Given the description of an element on the screen output the (x, y) to click on. 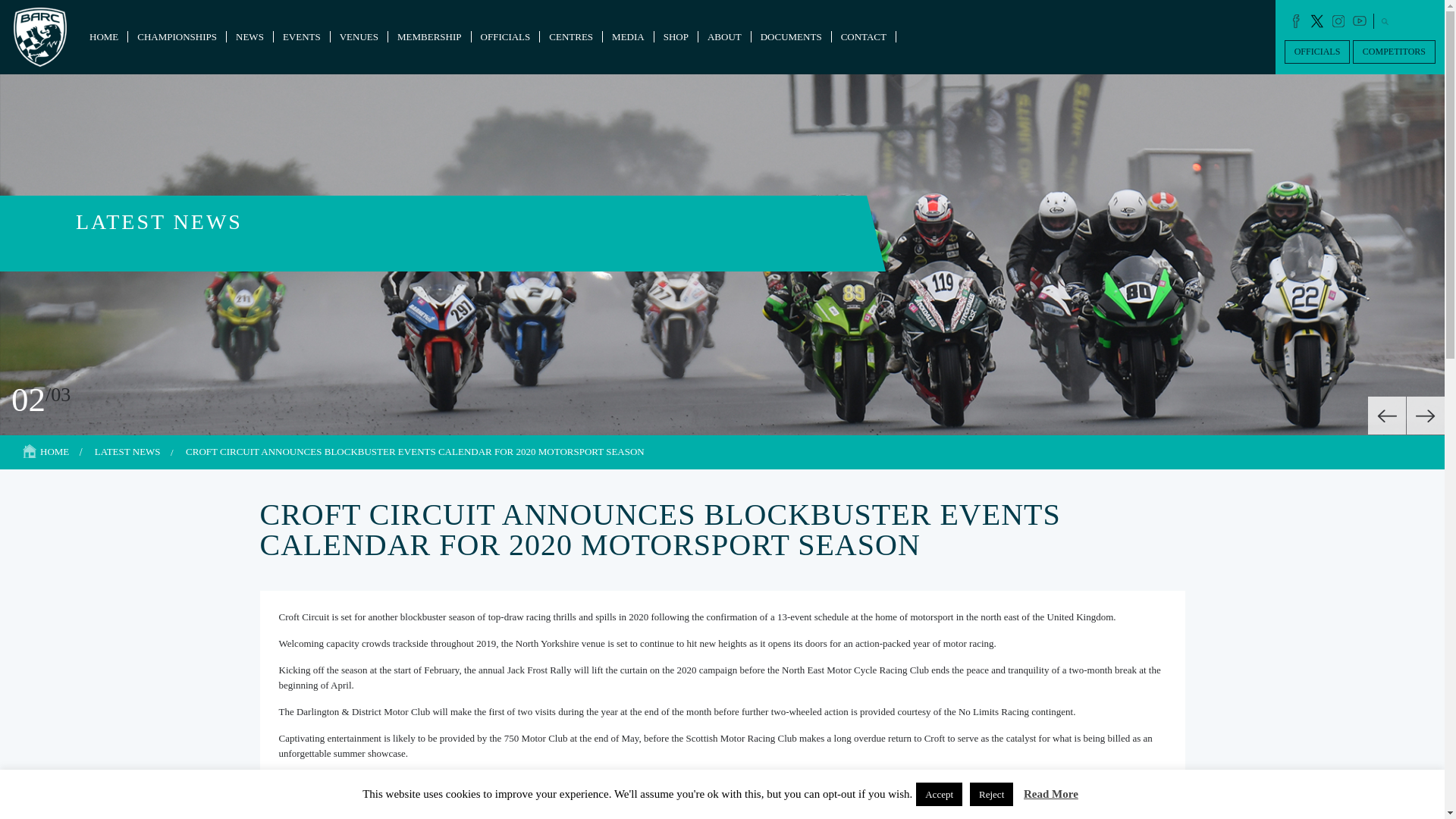
SHOP (675, 36)
CONTACT (863, 36)
HOME (104, 36)
COMPETITORS (1393, 51)
OFFICIALS (505, 36)
VENUES (358, 36)
MEMBERSHIP (429, 36)
CENTRES (571, 36)
NEWS (250, 36)
HOME (54, 451)
CHAMPIONSHIPS (176, 36)
DOCUMENTS (791, 36)
ABOUT (724, 36)
OFFICIALS (1317, 51)
MEDIA (627, 36)
